Given the description of an element on the screen output the (x, y) to click on. 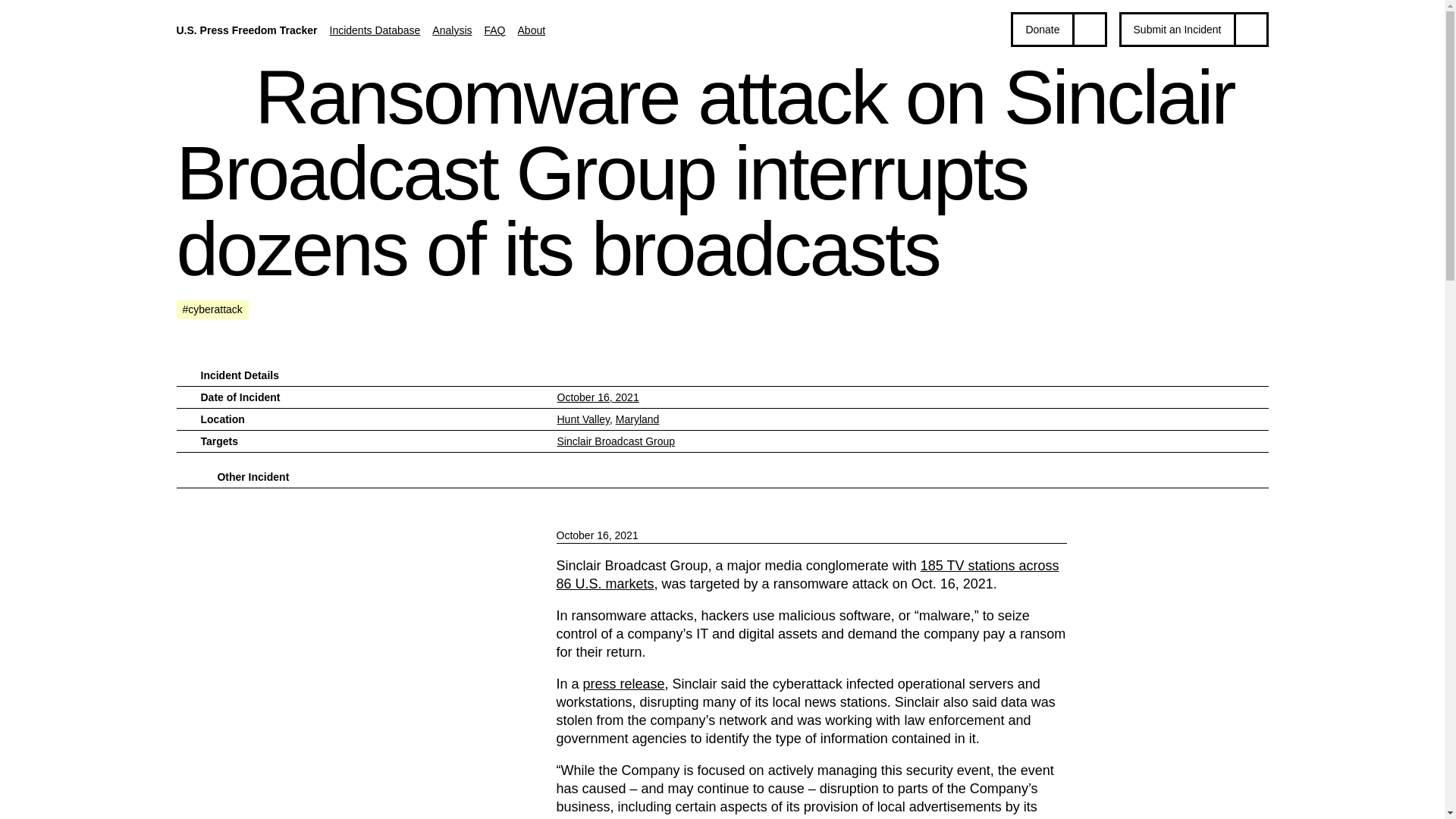
Maryland (637, 419)
About (532, 30)
Sinclair Broadcast Group (615, 440)
Submit an Incident (1193, 29)
Incidents Database (374, 30)
FAQ (494, 30)
Other Incident (252, 476)
October 16, 2021 (597, 397)
Hunt Valley (583, 419)
Donate (1058, 29)
